Given the description of an element on the screen output the (x, y) to click on. 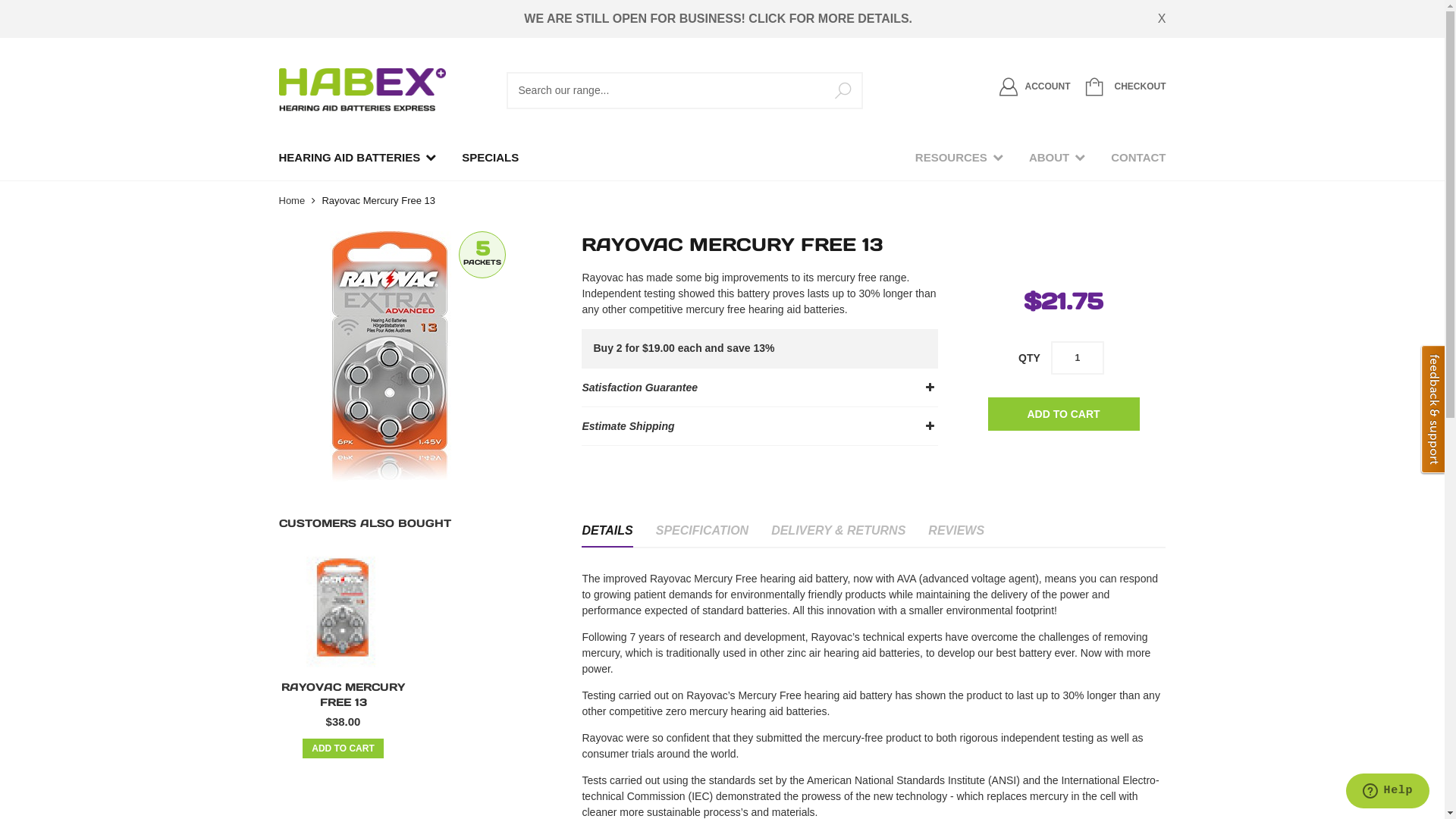
Search Element type: hover (842, 90)
CONTACT Element type: text (1137, 157)
WE ARE STILL OPEN FOR BUSINESS! CLICK FOR MORE DETAILS. Element type: text (718, 18)
REVIEWS Element type: text (956, 531)
Rayovac Mercury Free 13 Element type: hover (418, 356)
Home Element type: text (292, 200)
X Element type: text (1161, 18)
Rayovac Mercury Free 13 Element type: hover (343, 609)
Qty Element type: hover (1077, 357)
SPECIFICATION Element type: text (701, 531)
ADD TO CART Element type: text (342, 748)
Hearing Aid Batteries Express Element type: hover (362, 90)
Opens a widget where you can chat to one of our agents Element type: hover (1387, 792)
ACCOUNT Element type: text (1034, 86)
DETAILS Element type: text (606, 531)
DELIVERY & RETURNS Element type: text (838, 531)
RAYOVAC MERCURY FREE 13 Element type: text (342, 694)
ABOUT Element type: text (1057, 157)
SPECIALS Element type: text (490, 157)
CHECKOUT Element type: text (1122, 86)
HEARING AID BATTERIES Element type: text (356, 157)
RESOURCES Element type: text (958, 157)
ADD TO CART Element type: text (1063, 413)
